Given the description of an element on the screen output the (x, y) to click on. 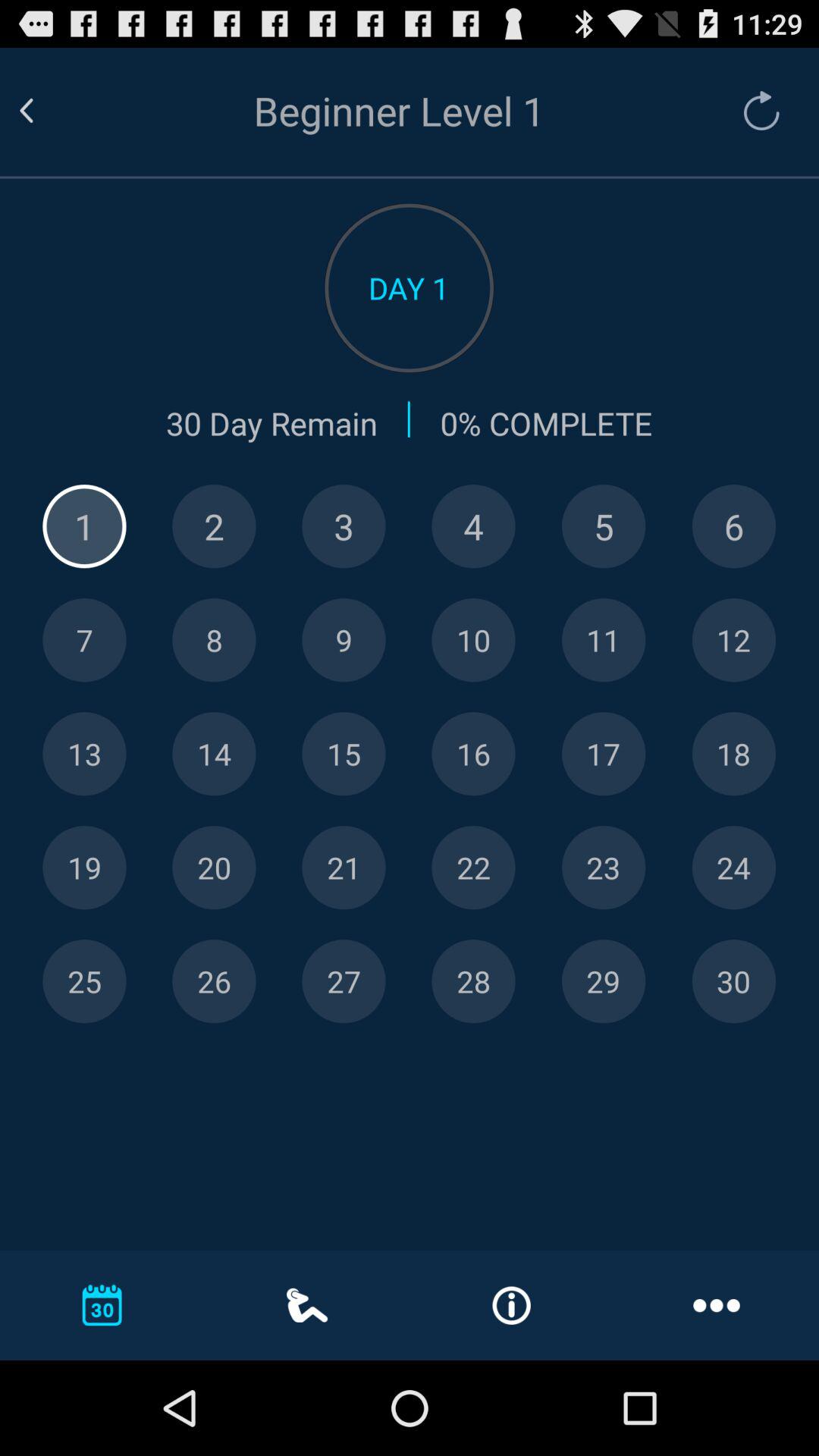
select day (473, 753)
